Given the description of an element on the screen output the (x, y) to click on. 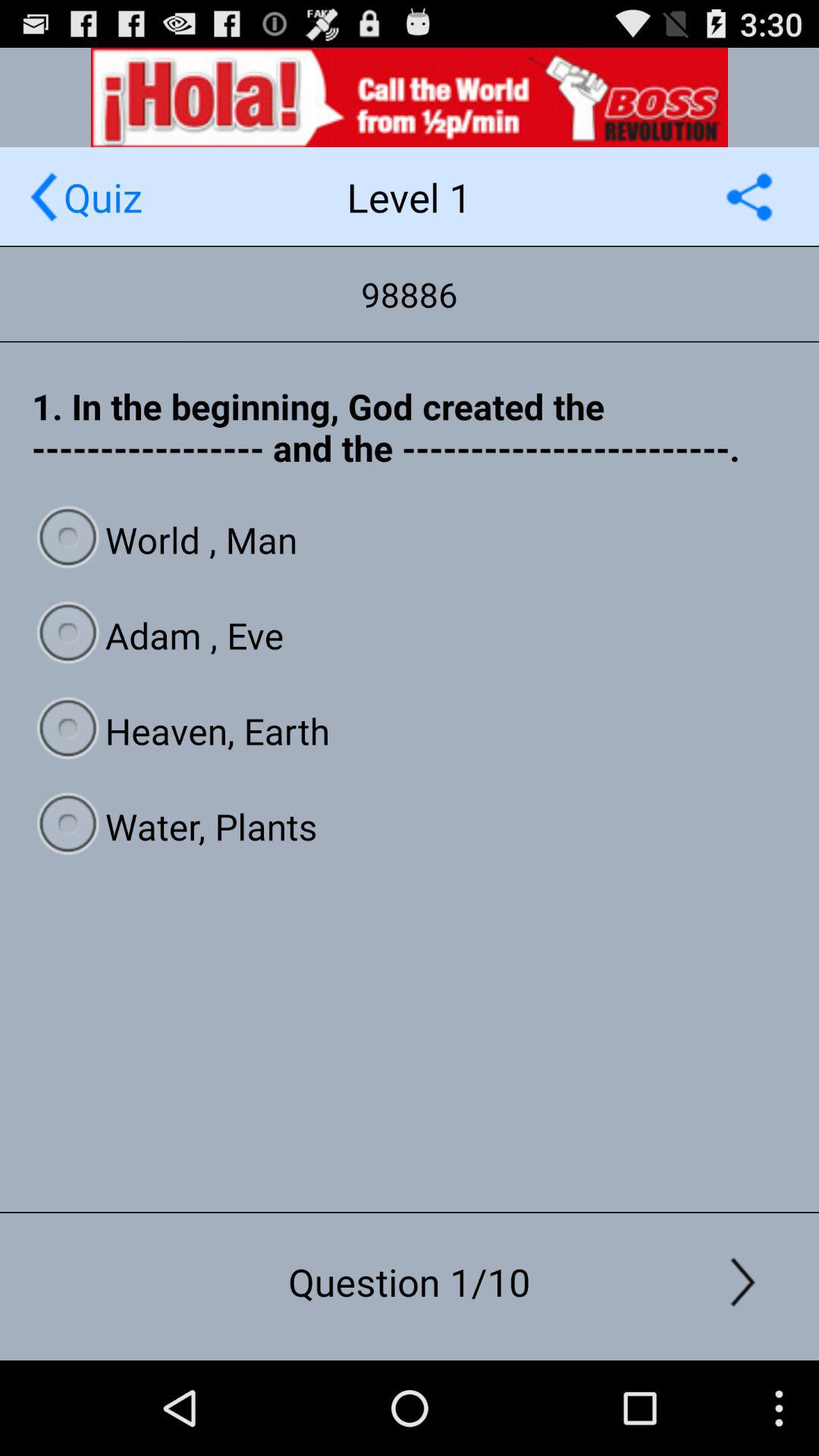
share information (749, 196)
